Given the description of an element on the screen output the (x, y) to click on. 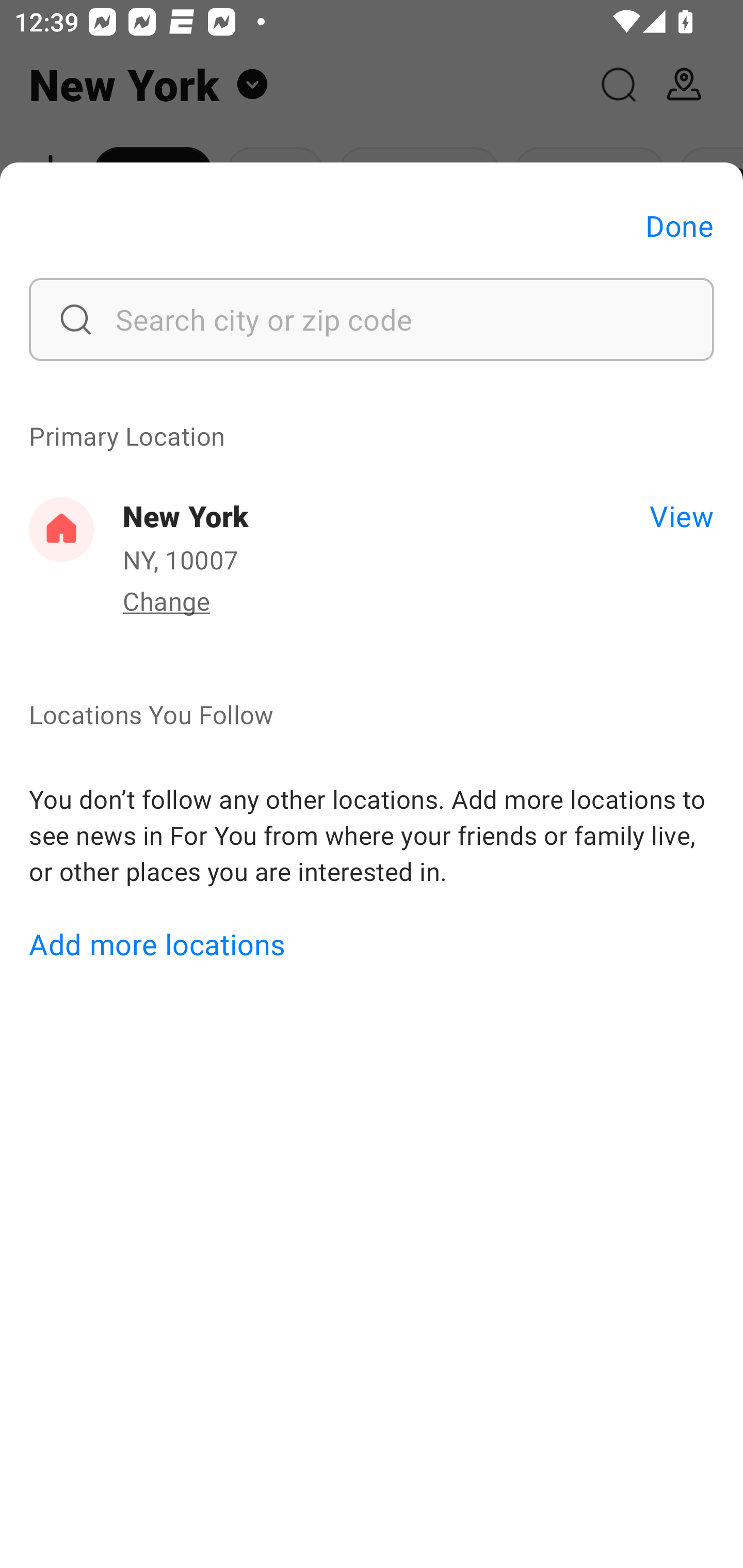
Done (679, 225)
Search city or zip code (371, 318)
View (681, 514)
Change (166, 600)
